Given the description of an element on the screen output the (x, y) to click on. 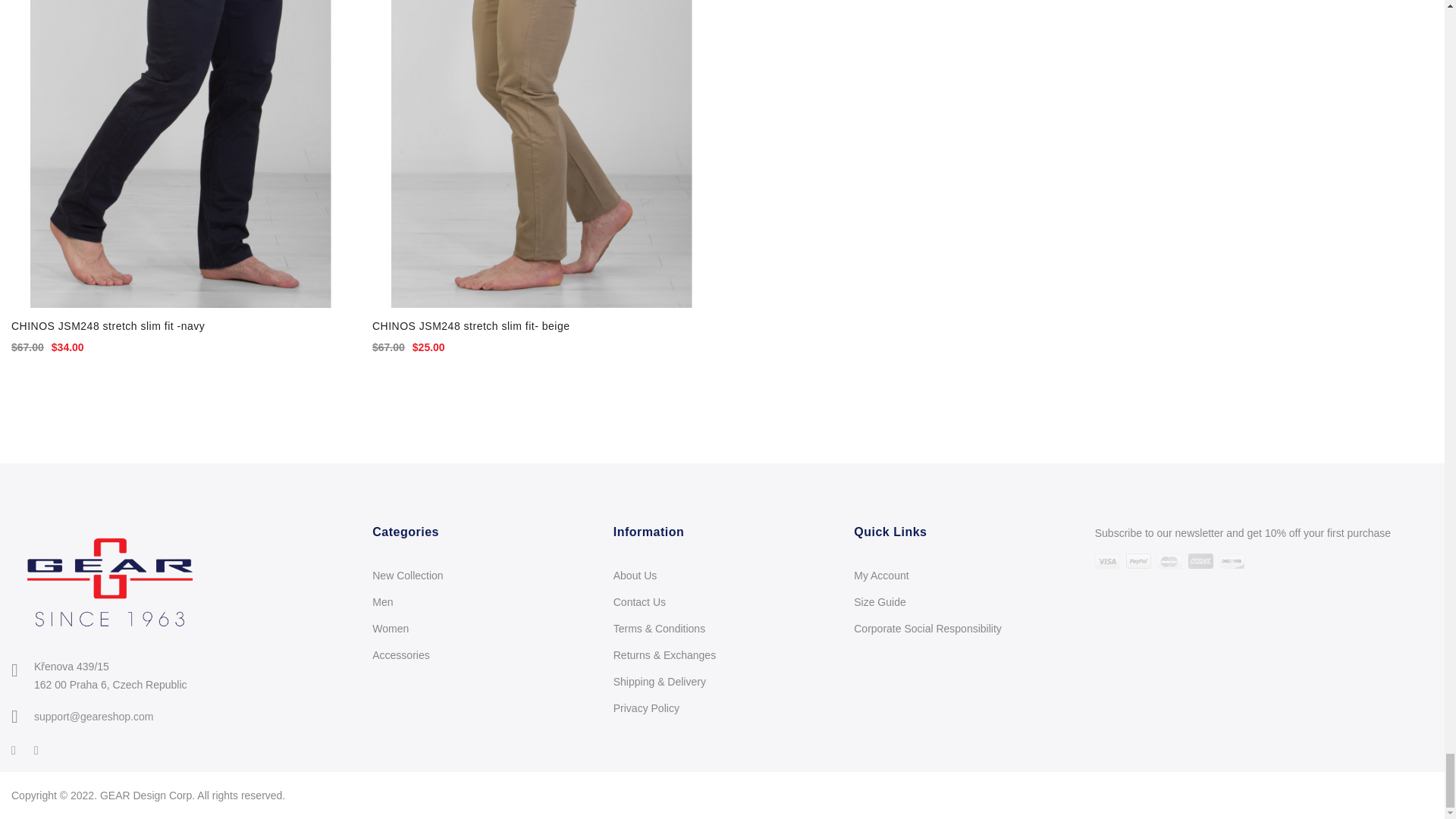
CHINOS JSM248 stretch slim fit- beige (541, 154)
CHINOS JSM248 stretch slim fit -navy (180, 154)
